Given the description of an element on the screen output the (x, y) to click on. 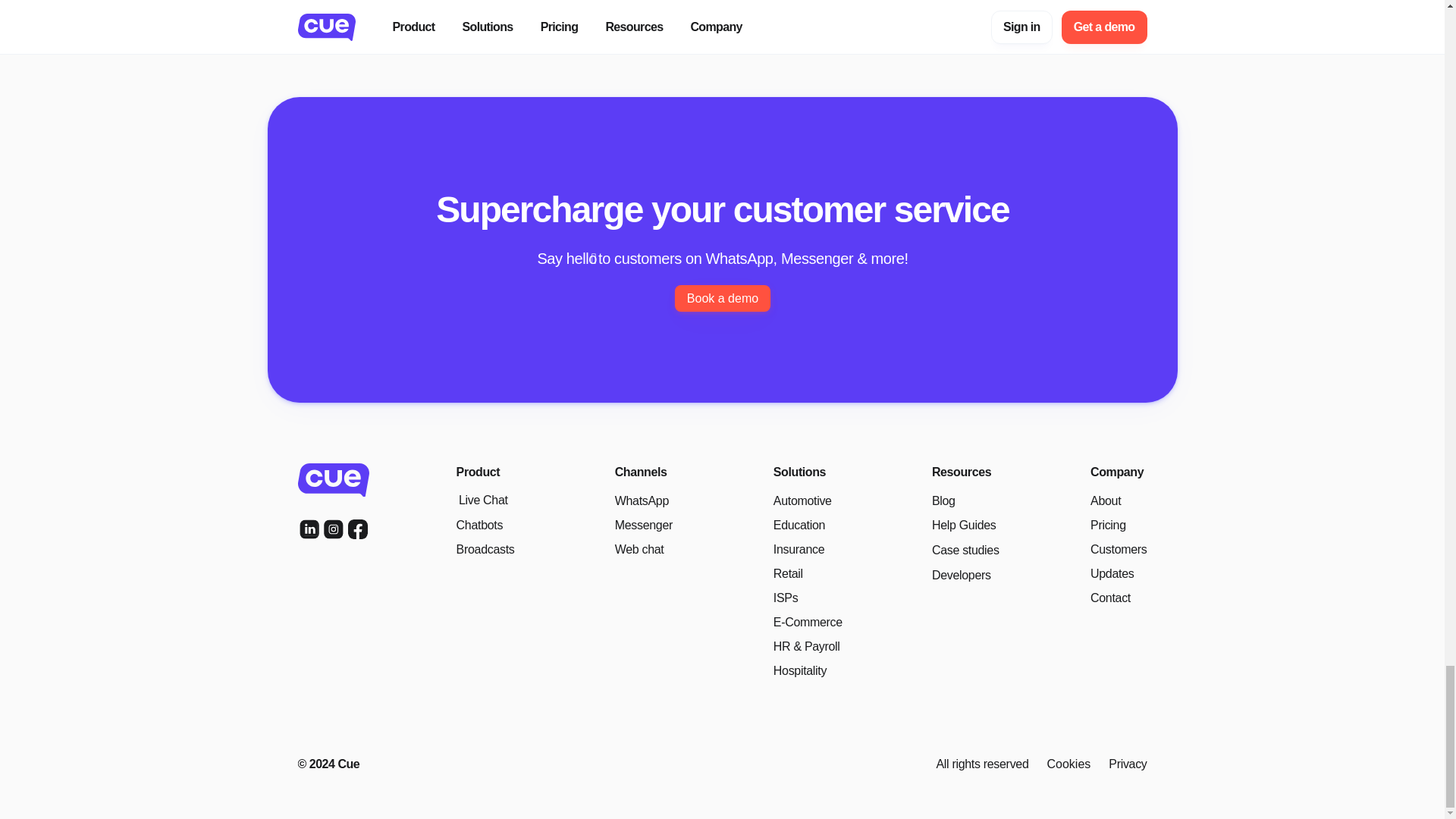
E-Commerce (808, 622)
Retail (788, 573)
Education (799, 524)
Insurance (798, 549)
Automotive (802, 501)
ISPs (785, 597)
Messenger (643, 524)
Broadcasts (486, 549)
Web chat (638, 549)
WhatsApp (641, 501)
Chatbots (479, 524)
Live Chat (482, 501)
